Given the description of an element on the screen output the (x, y) to click on. 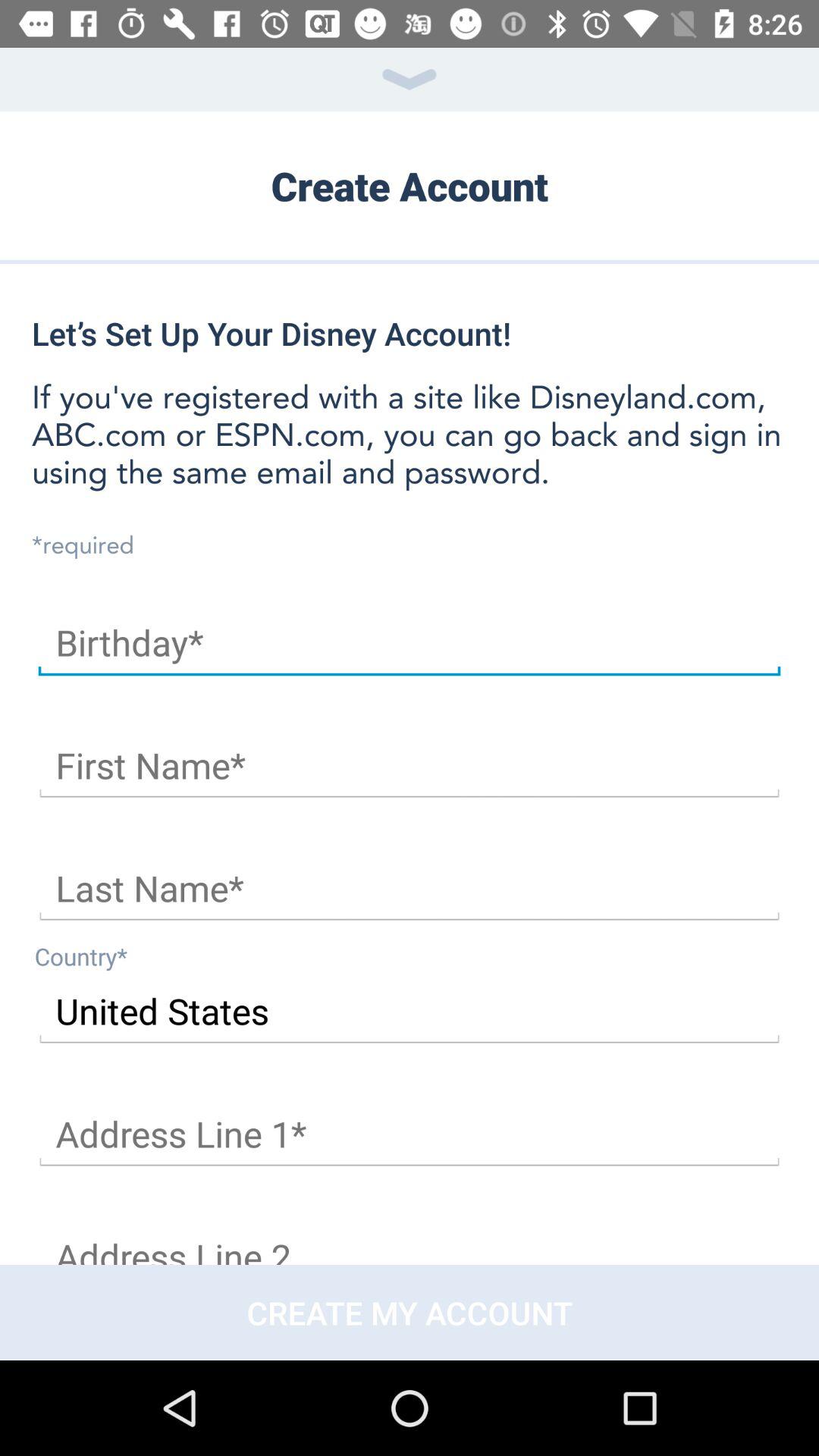
enter address line 1 (409, 1134)
